Given the description of an element on the screen output the (x, y) to click on. 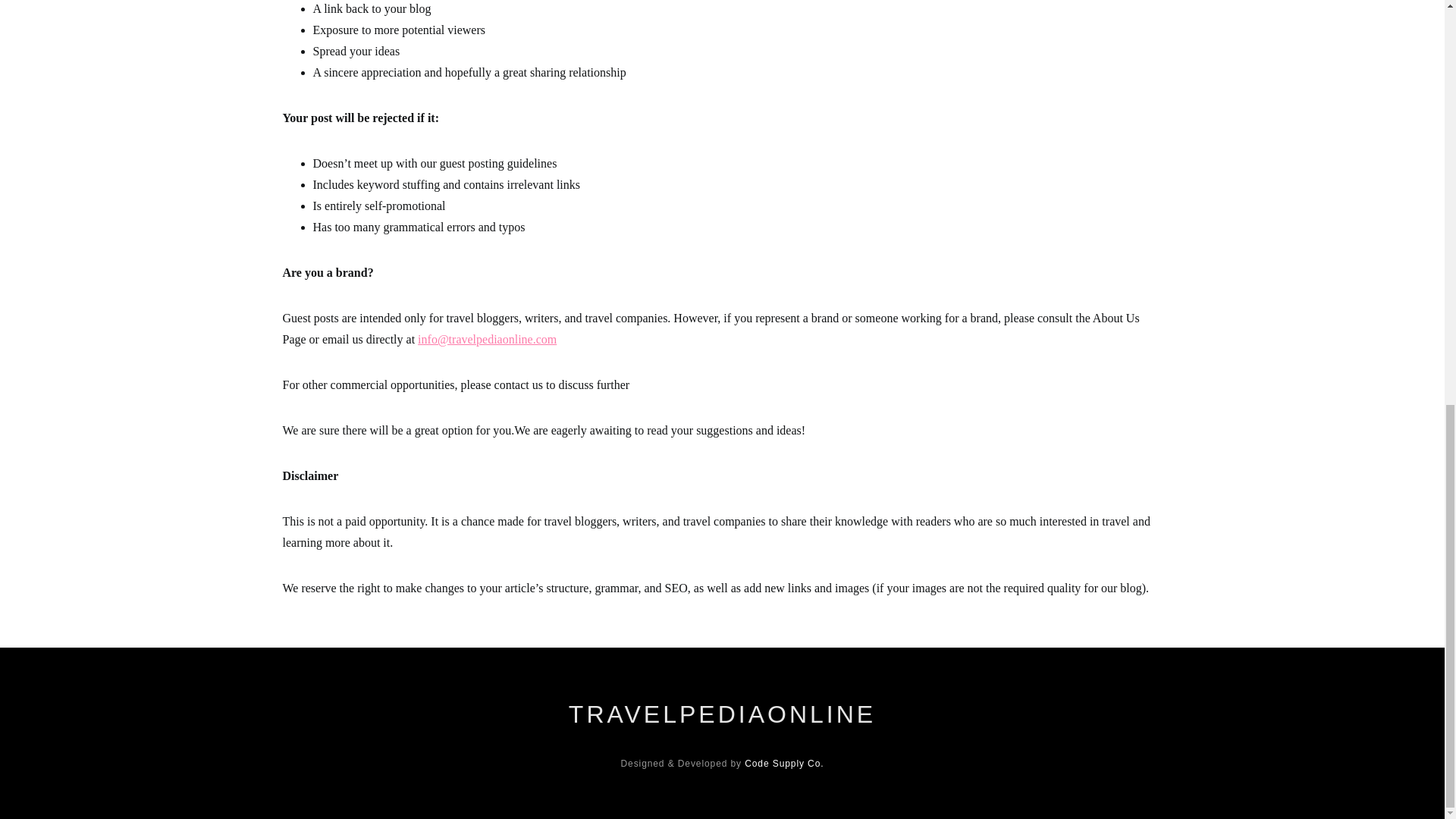
Code Supply Co. (784, 763)
